Given the description of an element on the screen output the (x, y) to click on. 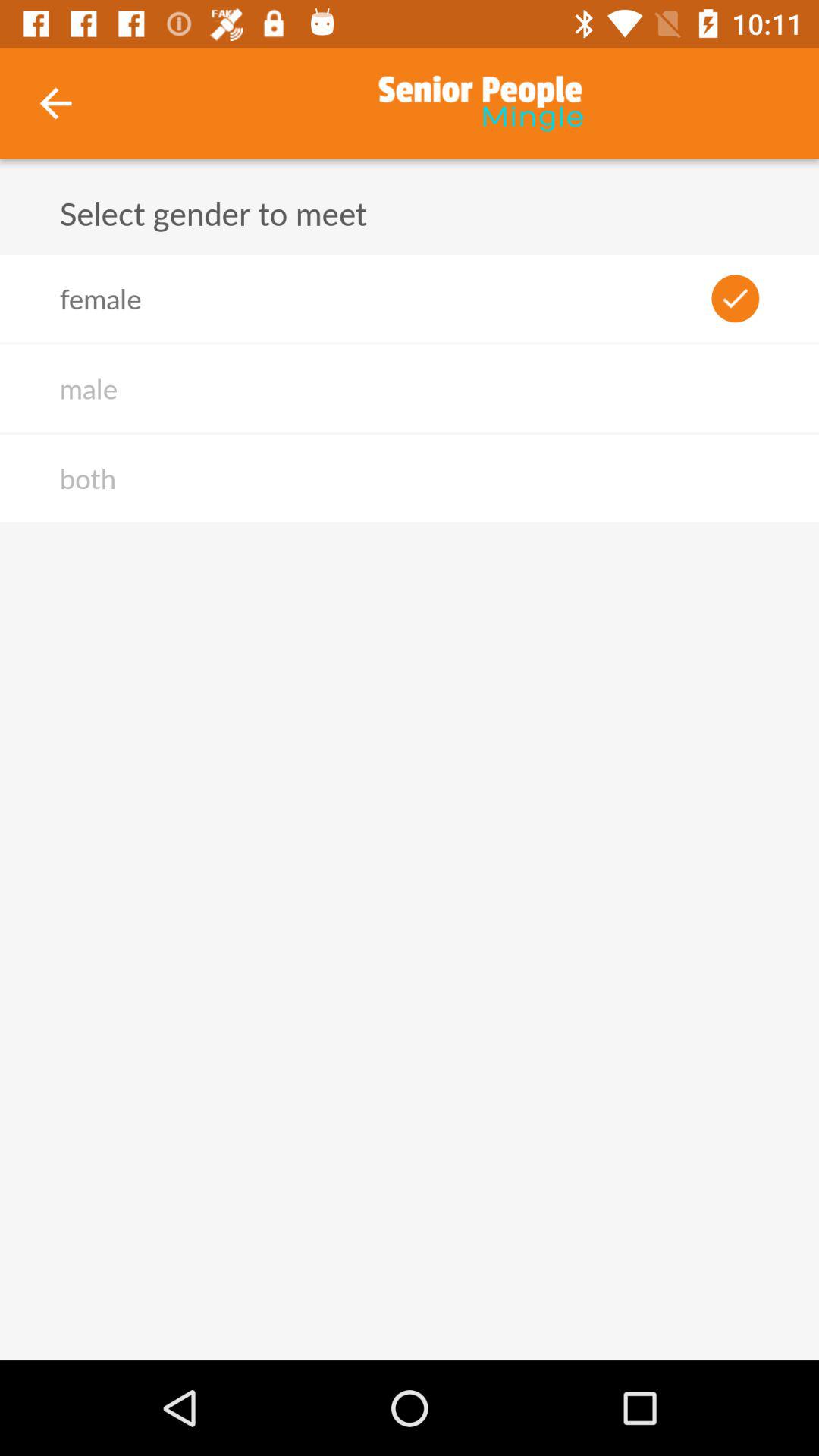
press female (100, 298)
